Given the description of an element on the screen output the (x, y) to click on. 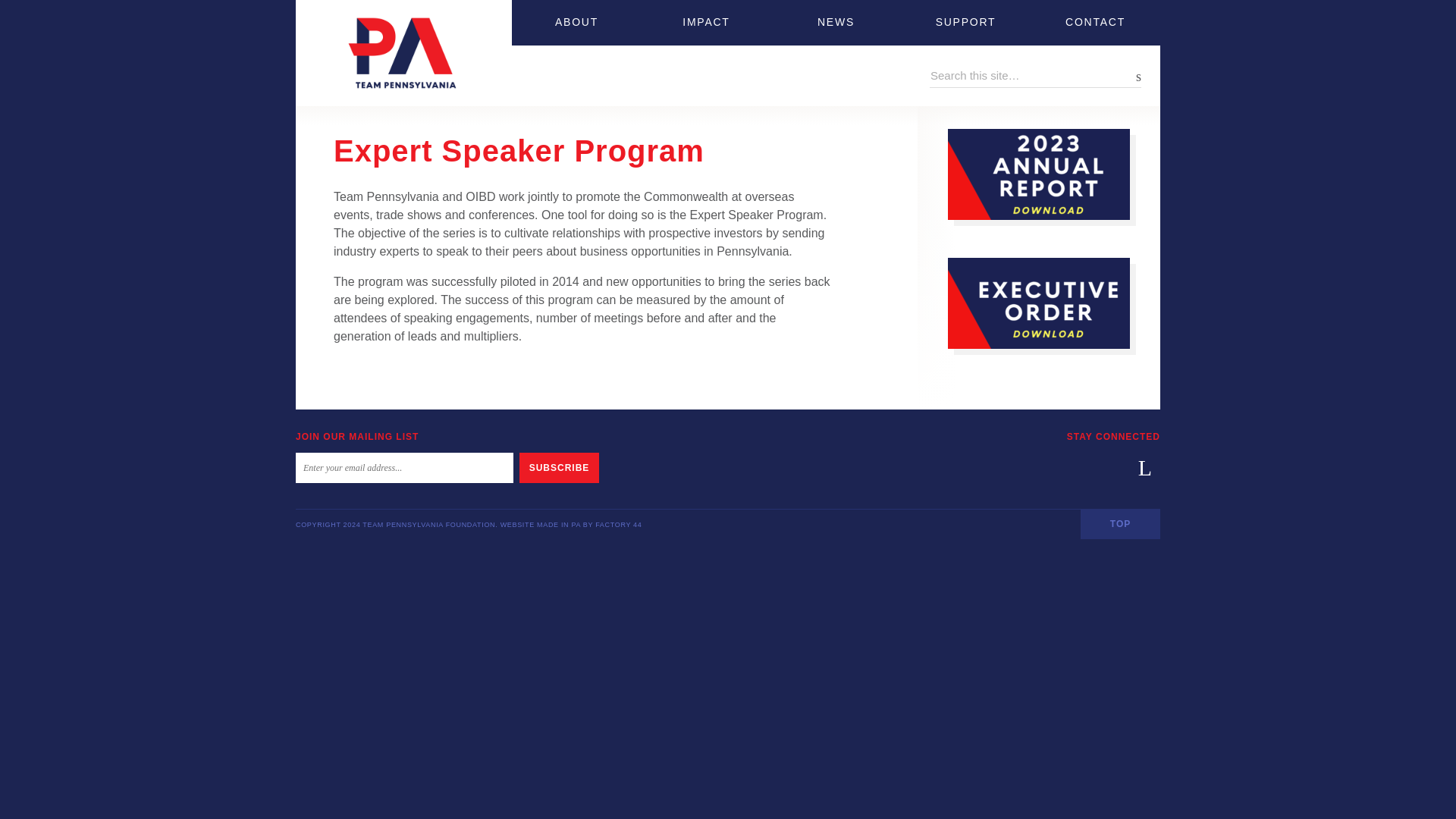
IMPACT (706, 22)
NEWS (836, 22)
ABOUT (577, 22)
Skip to content (335, 8)
Connect on LinkedIn (1144, 468)
CONTACT (1095, 22)
FACTORY 44 (618, 524)
SUBSCRIBE (558, 467)
SUPPORT (965, 22)
LinkedIn (1144, 468)
Skip to content (335, 8)
TOP (1120, 523)
